Given the description of an element on the screen output the (x, y) to click on. 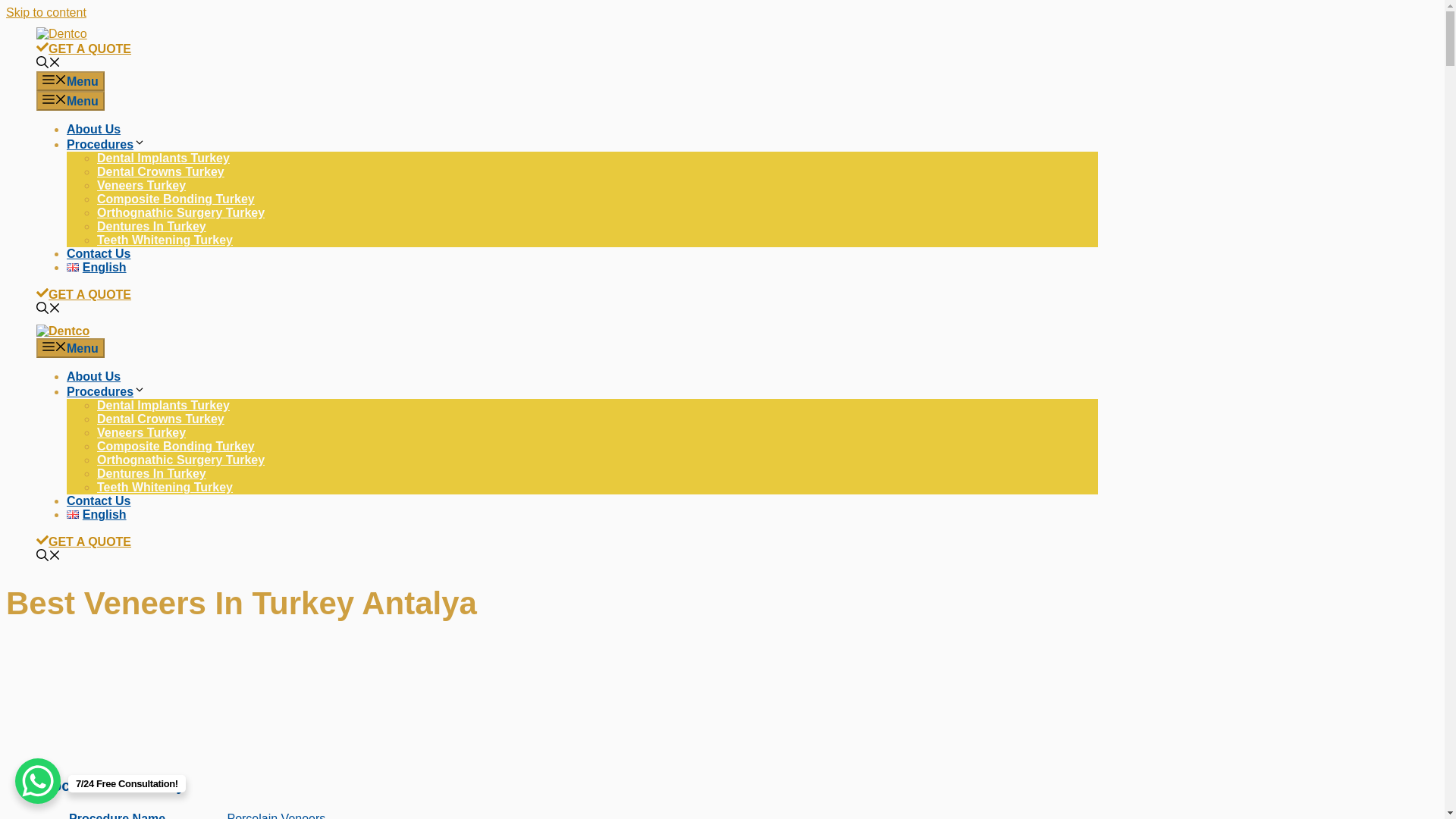
About Us (93, 128)
Veneers Turkey (141, 431)
Dental Crowns Turkey (160, 171)
GET A QUOTE (83, 294)
Menu (70, 100)
English (96, 267)
Dental Implants Turkey (163, 157)
Dentures In Turkey (151, 472)
Procedures (105, 391)
Orthognathic Surgery Turkey (180, 212)
Composite Bonding Turkey (175, 445)
Contact Us (98, 500)
Dental Crowns Turkey (160, 418)
English (96, 513)
